Given the description of an element on the screen output the (x, y) to click on. 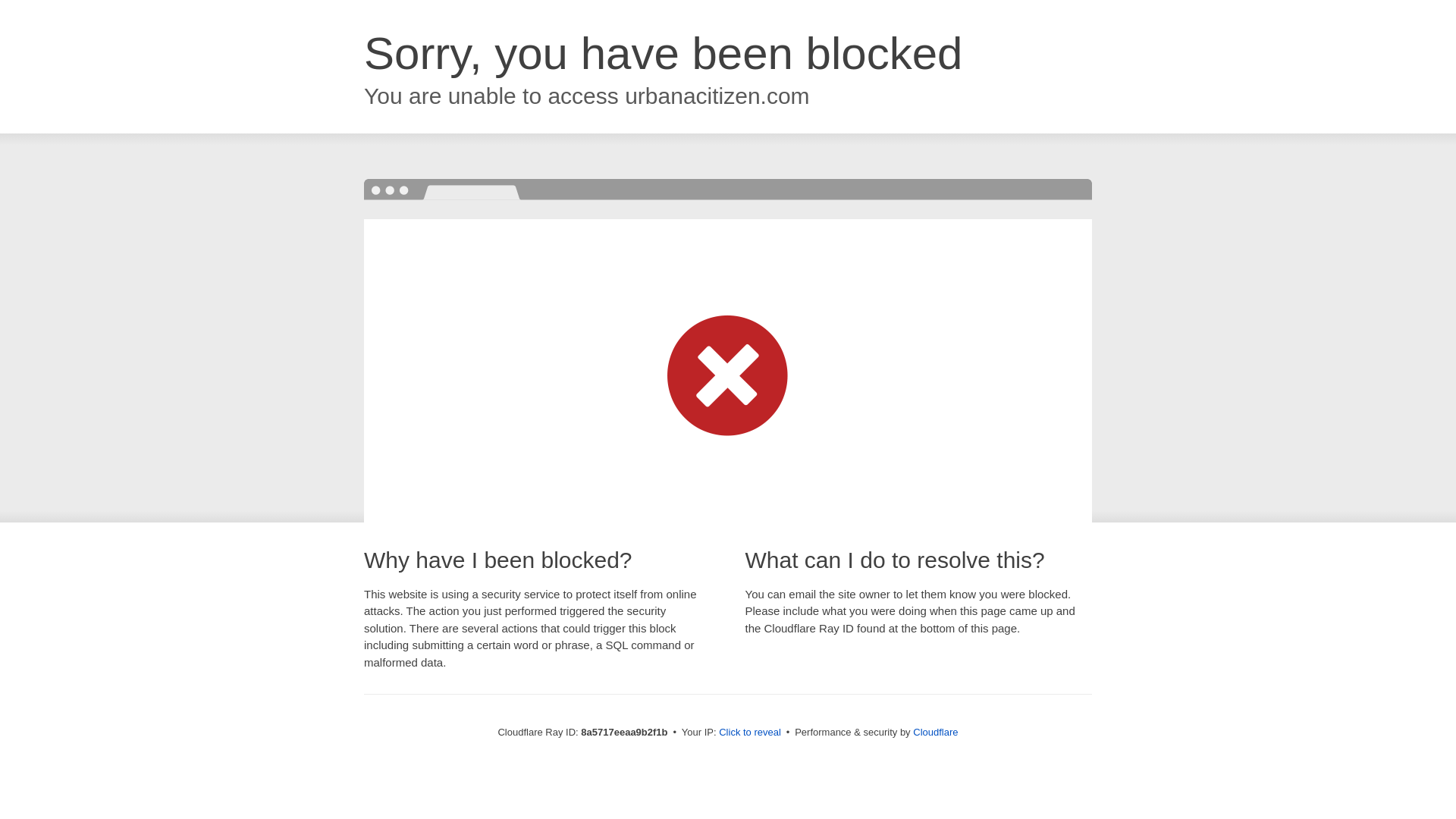
Click to reveal (749, 732)
Cloudflare (935, 731)
